Given the description of an element on the screen output the (x, y) to click on. 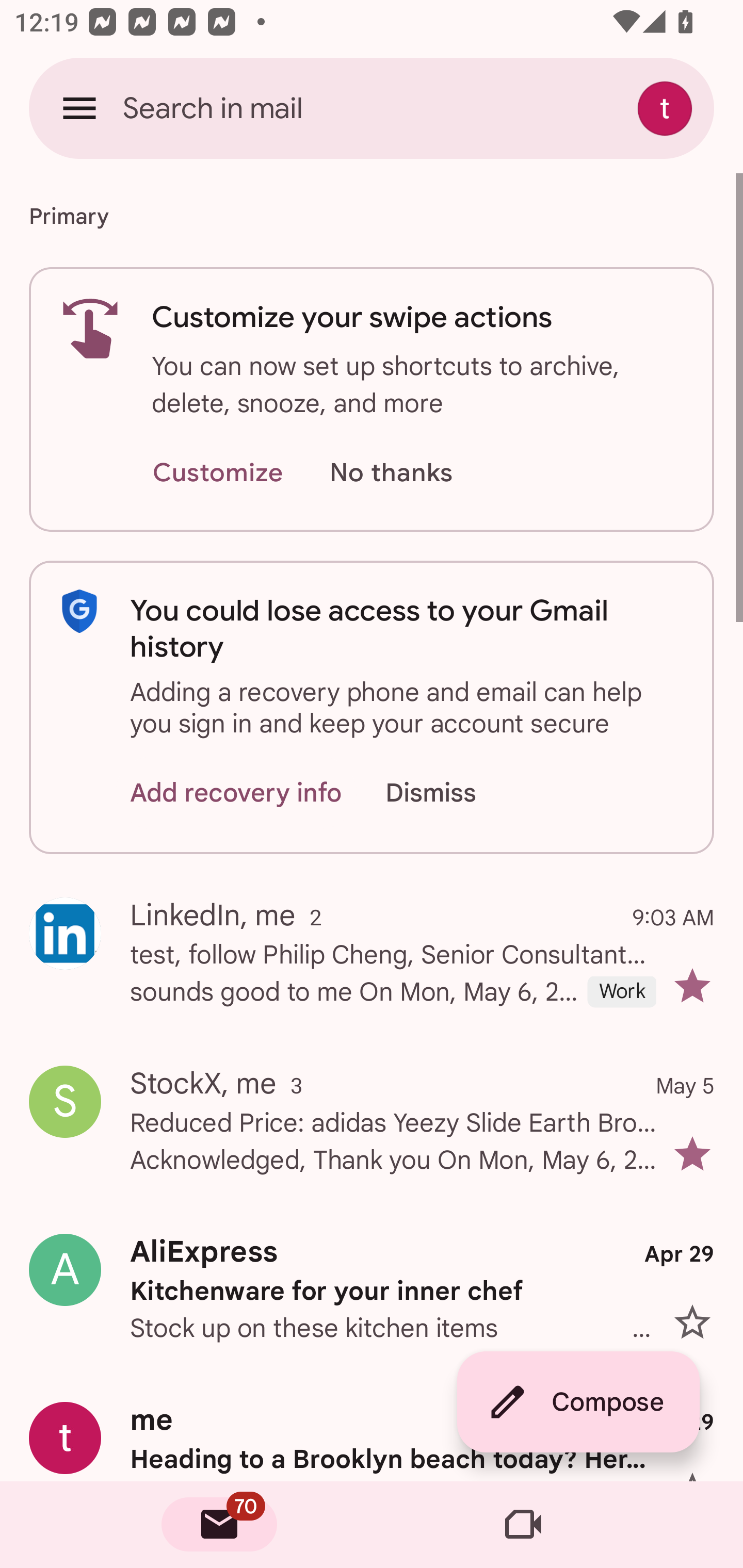
Open navigation drawer (79, 108)
Customize (217, 473)
No thanks (390, 473)
Add recovery info (235, 792)
Dismiss (449, 792)
Compose (577, 1401)
Meet (523, 1524)
